Given the description of an element on the screen output the (x, y) to click on. 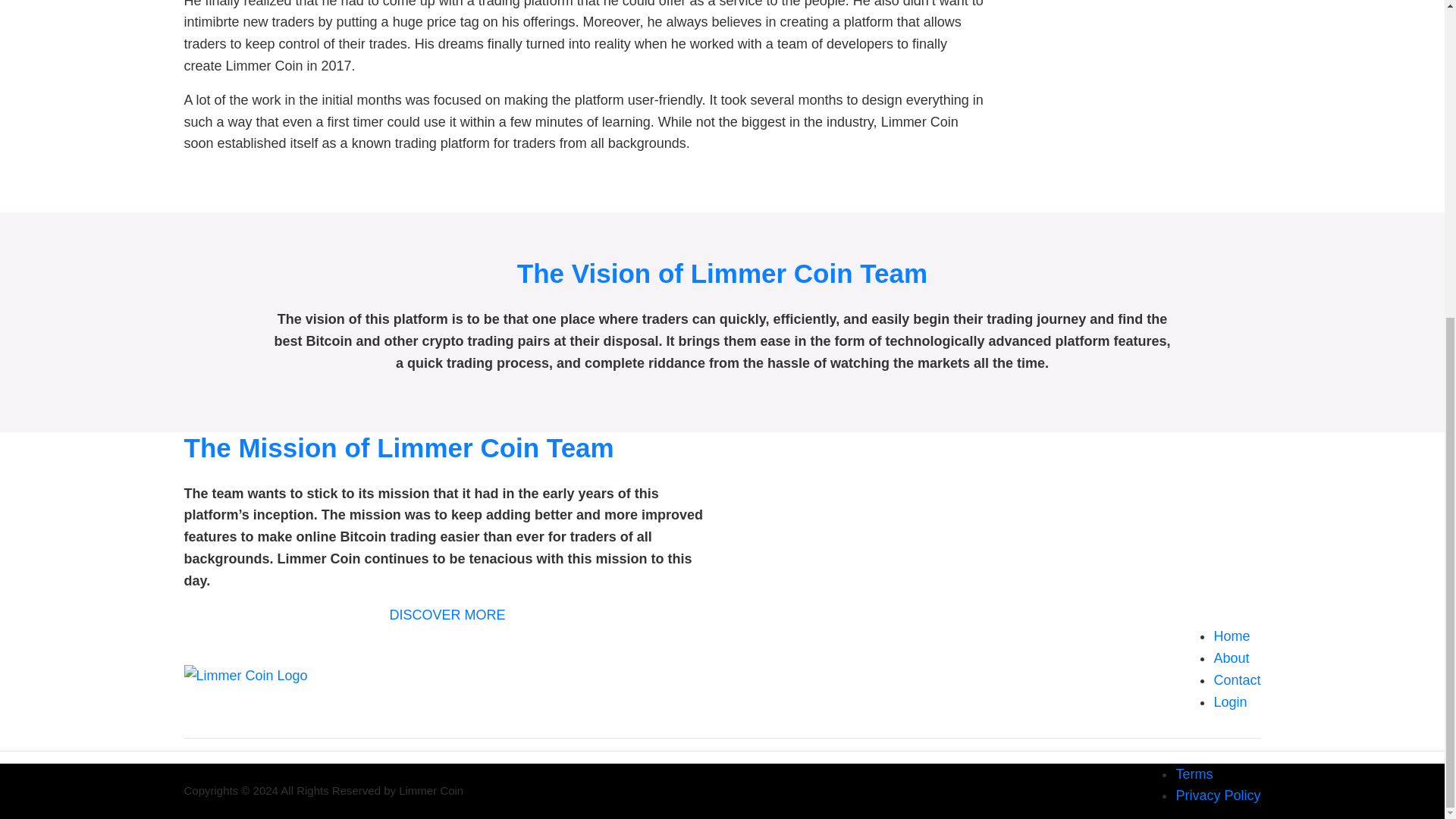
About (1230, 657)
DISCOVER MORE (446, 614)
Login (1229, 702)
Terms (1193, 773)
Home (1230, 635)
Contact (1236, 679)
Privacy Policy (1217, 795)
